Given the description of an element on the screen output the (x, y) to click on. 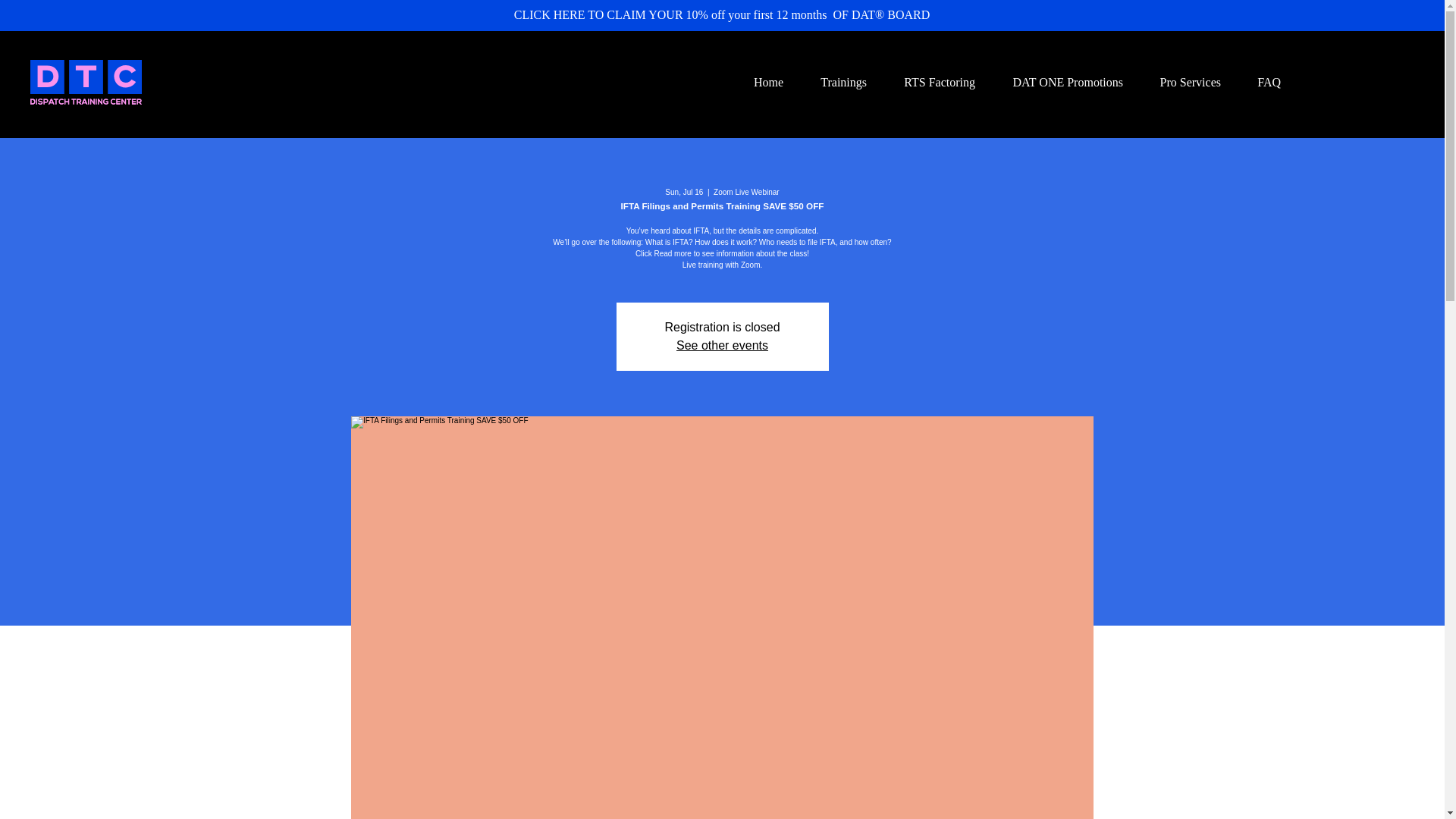
FAQ (1261, 82)
Home (761, 82)
DAT ONE Promotions (1060, 82)
Pro Services (1182, 82)
Trainings (835, 82)
See other events (722, 345)
RTS Factoring (932, 82)
